Given the description of an element on the screen output the (x, y) to click on. 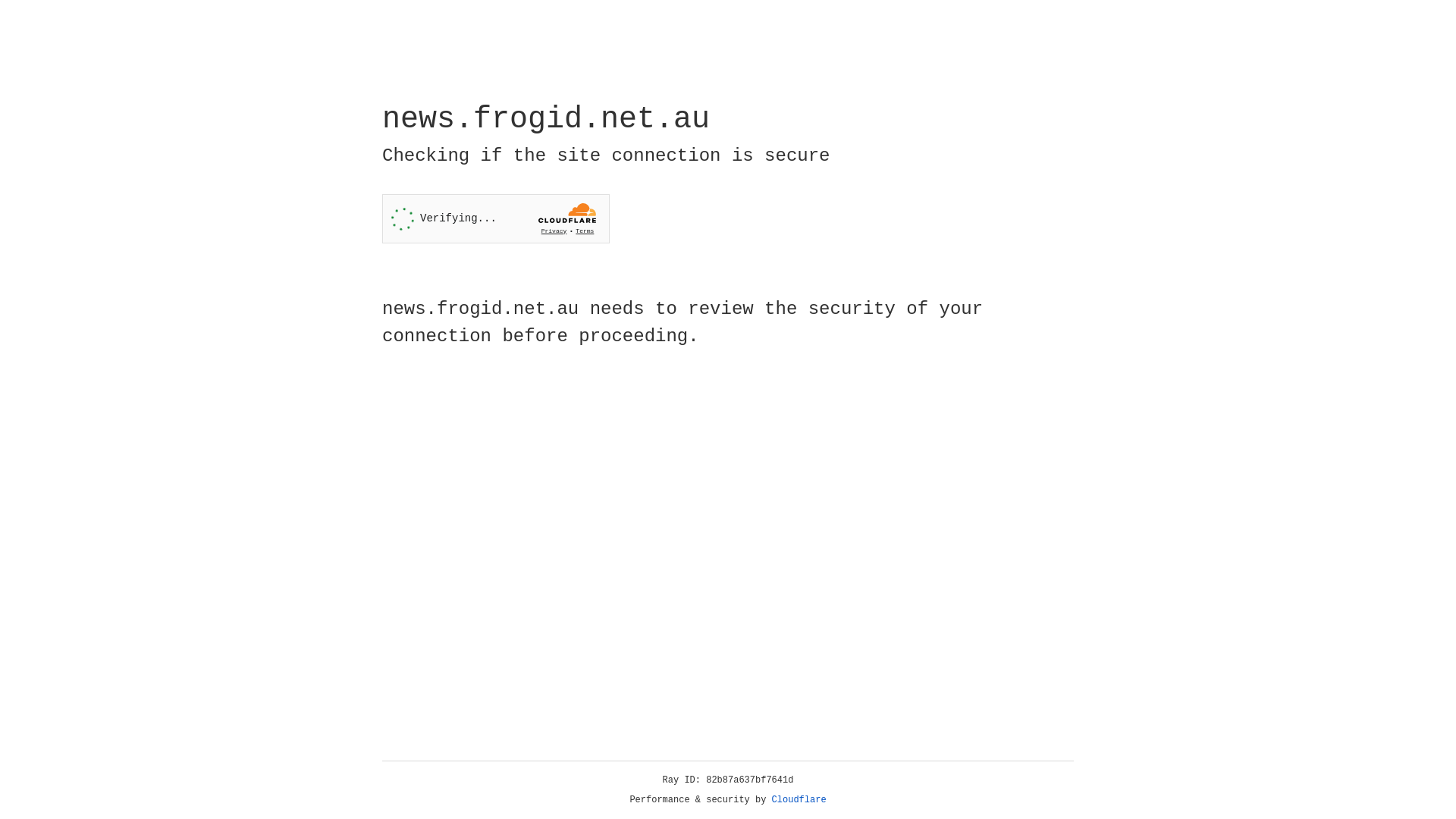
Widget containing a Cloudflare security challenge Element type: hover (495, 218)
Cloudflare Element type: text (798, 799)
